Given the description of an element on the screen output the (x, y) to click on. 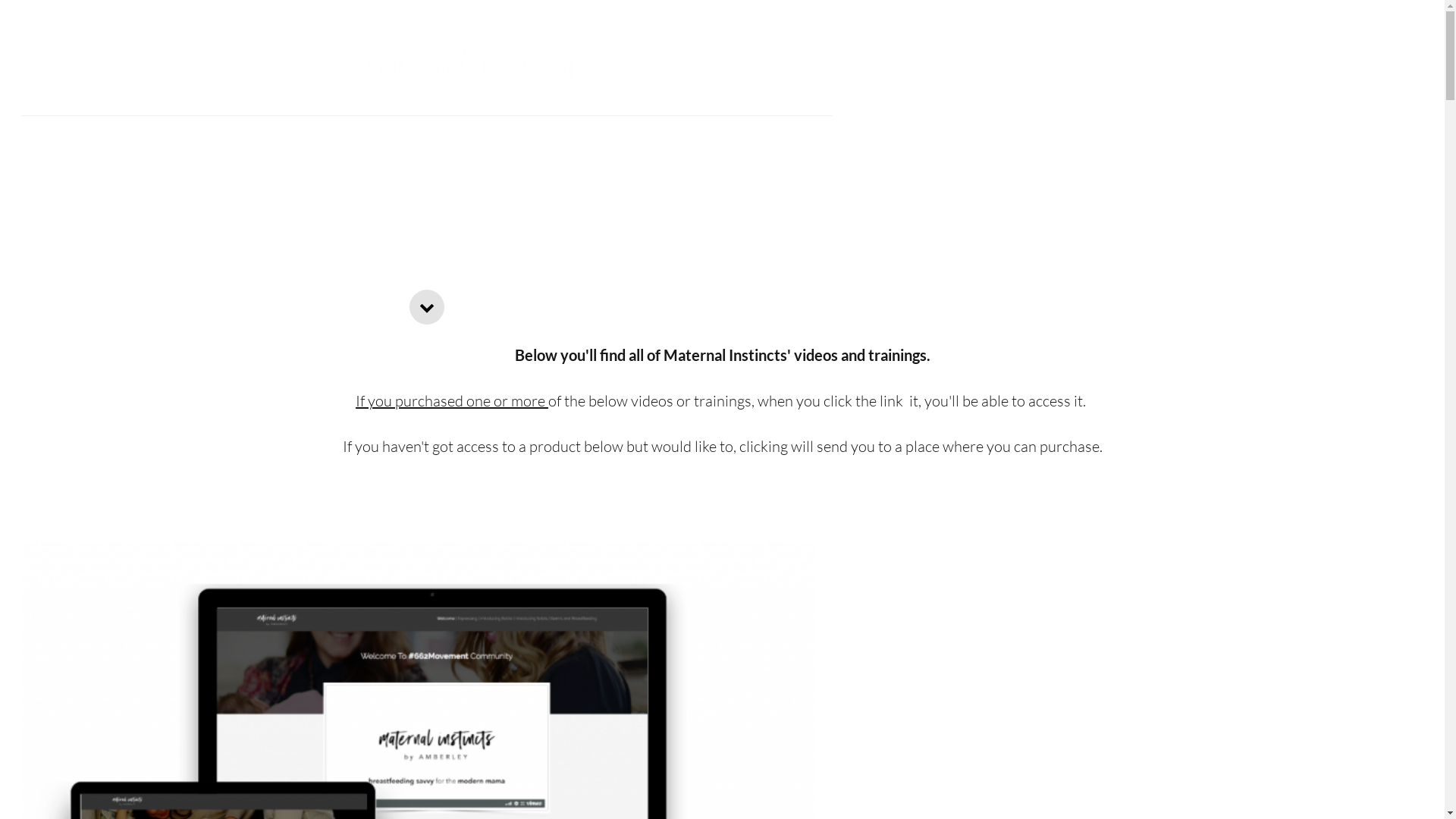
whiteamberleylogo-300x82 Element type: hover (480, 74)
